Given the description of an element on the screen output the (x, y) to click on. 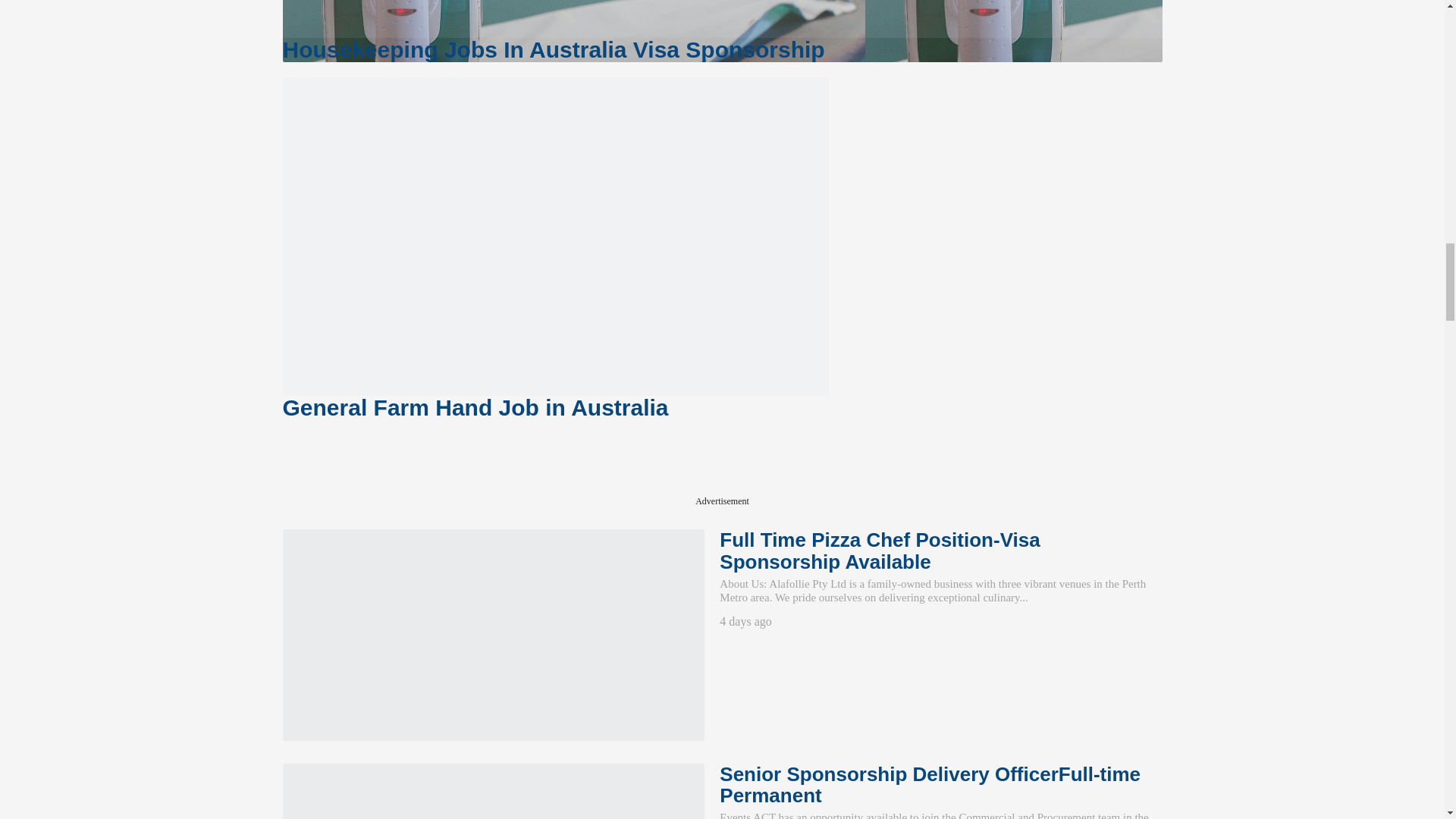
Housekeeping Jobs In Australia Visa Sponsorship (721, 18)
Full Time Pizza Chef Position-Visa Sponsorship Available (493, 634)
Senior Sponsorship Delivery OfficerFull-time Permanent (493, 791)
